Given the description of an element on the screen output the (x, y) to click on. 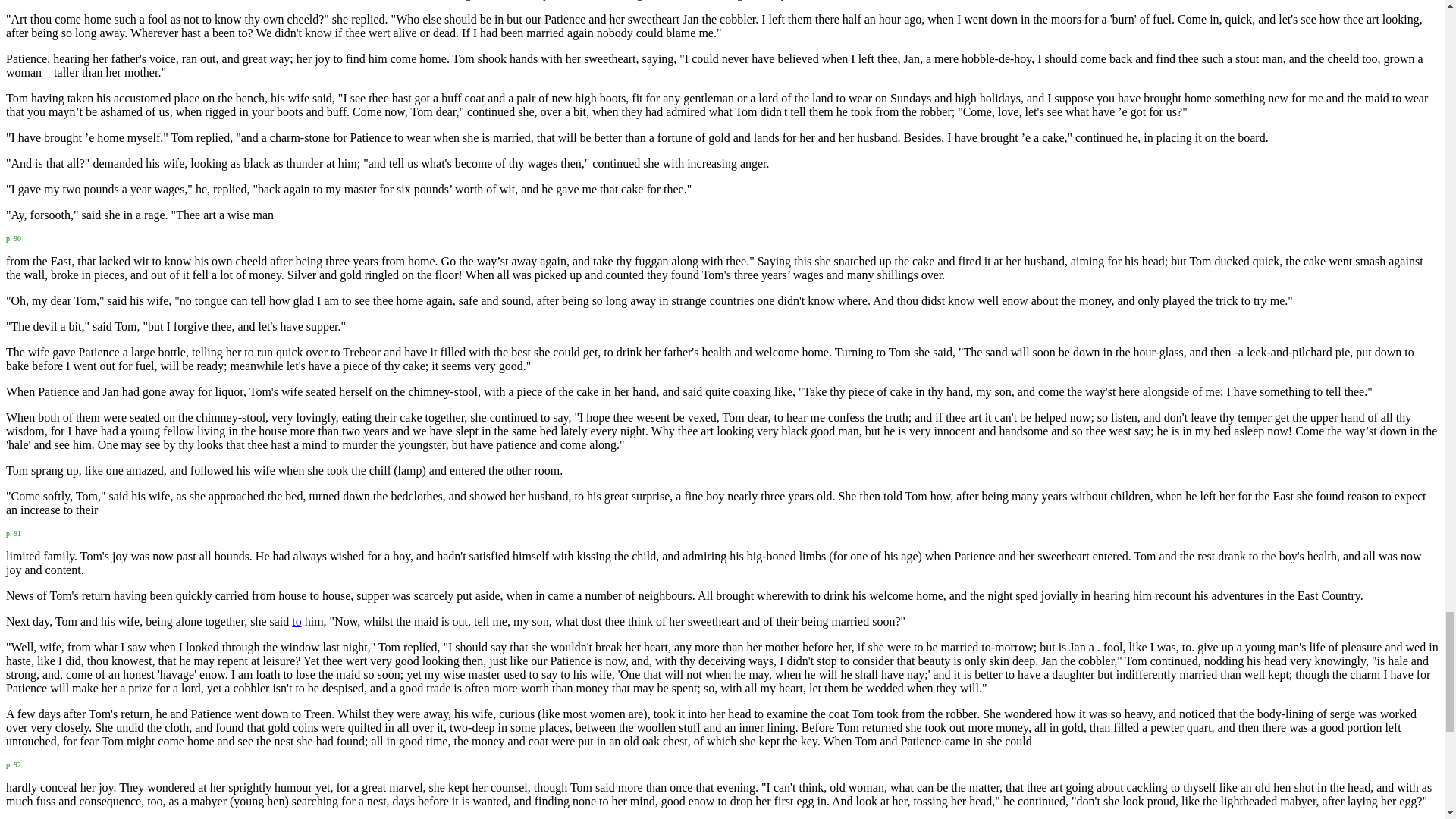
p. 92 (13, 762)
p. 90 (13, 236)
p. 91 (13, 531)
